Given the description of an element on the screen output the (x, y) to click on. 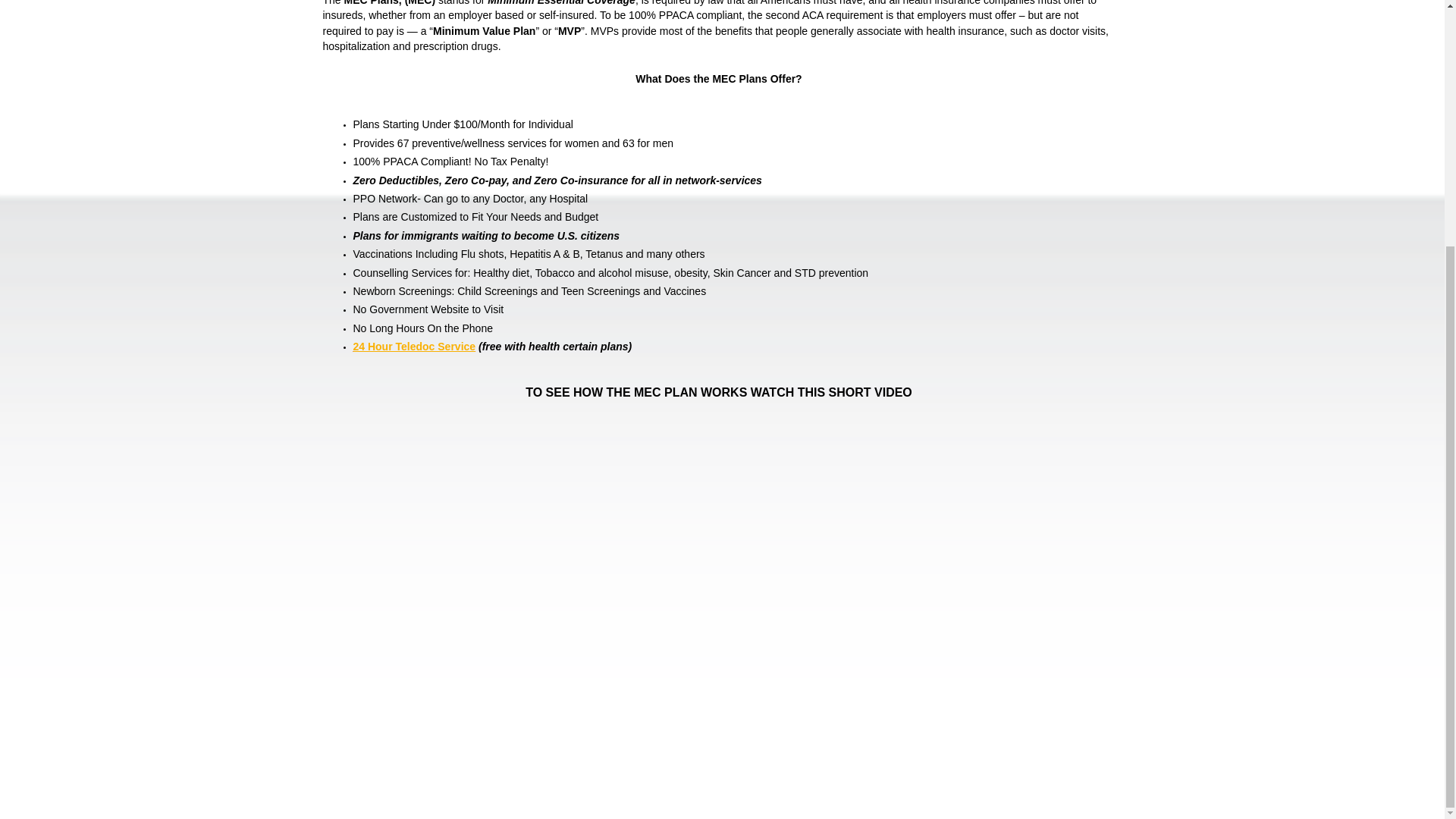
24 Hour Teledoc Service (414, 346)
